Given the description of an element on the screen output the (x, y) to click on. 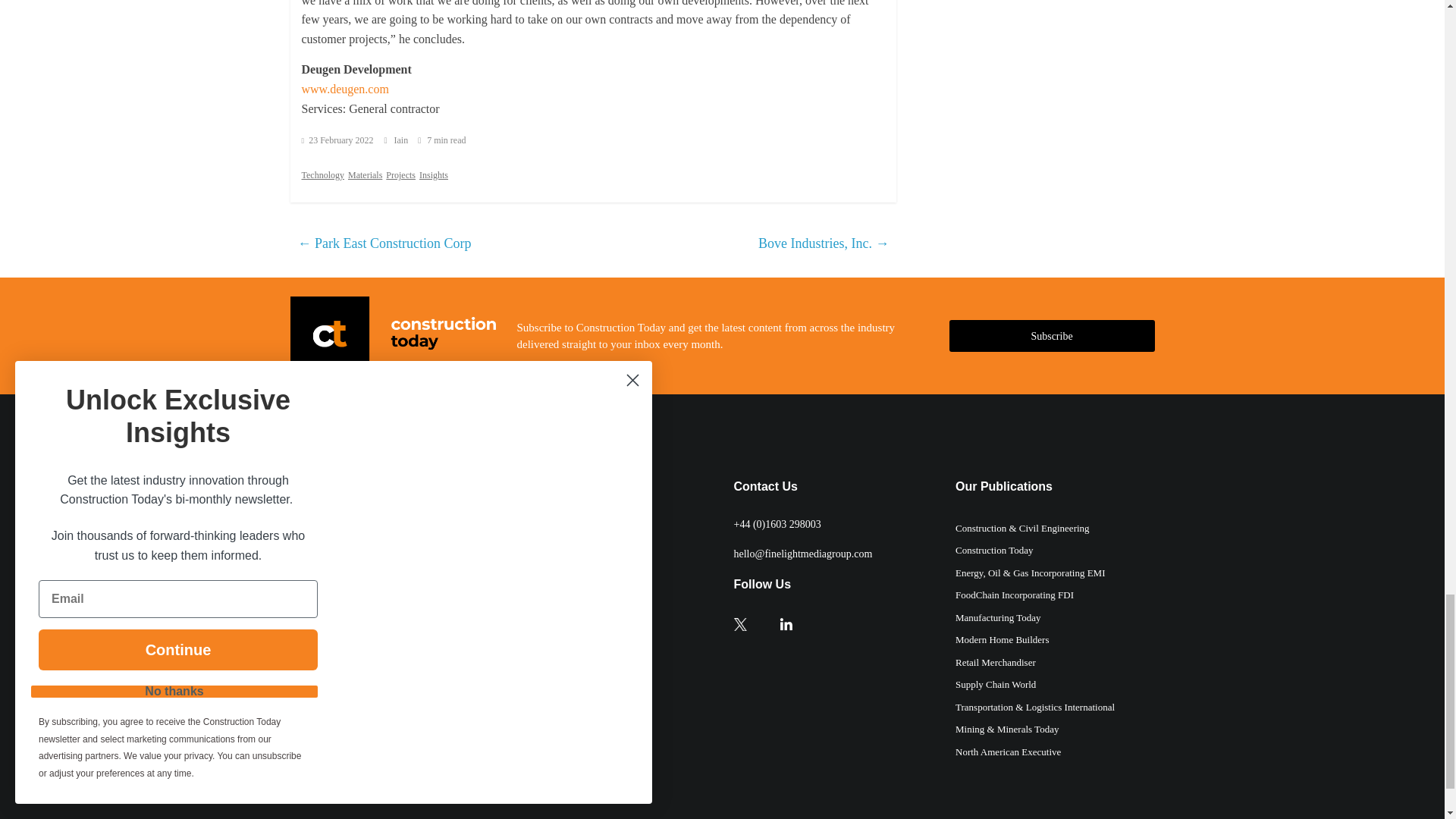
www.deugen.com (344, 88)
23 February 2022 (337, 140)
Projects (399, 174)
Iain (402, 140)
Iain (402, 140)
Materials (364, 174)
Technology (322, 174)
11:12 am (337, 140)
